Given the description of an element on the screen output the (x, y) to click on. 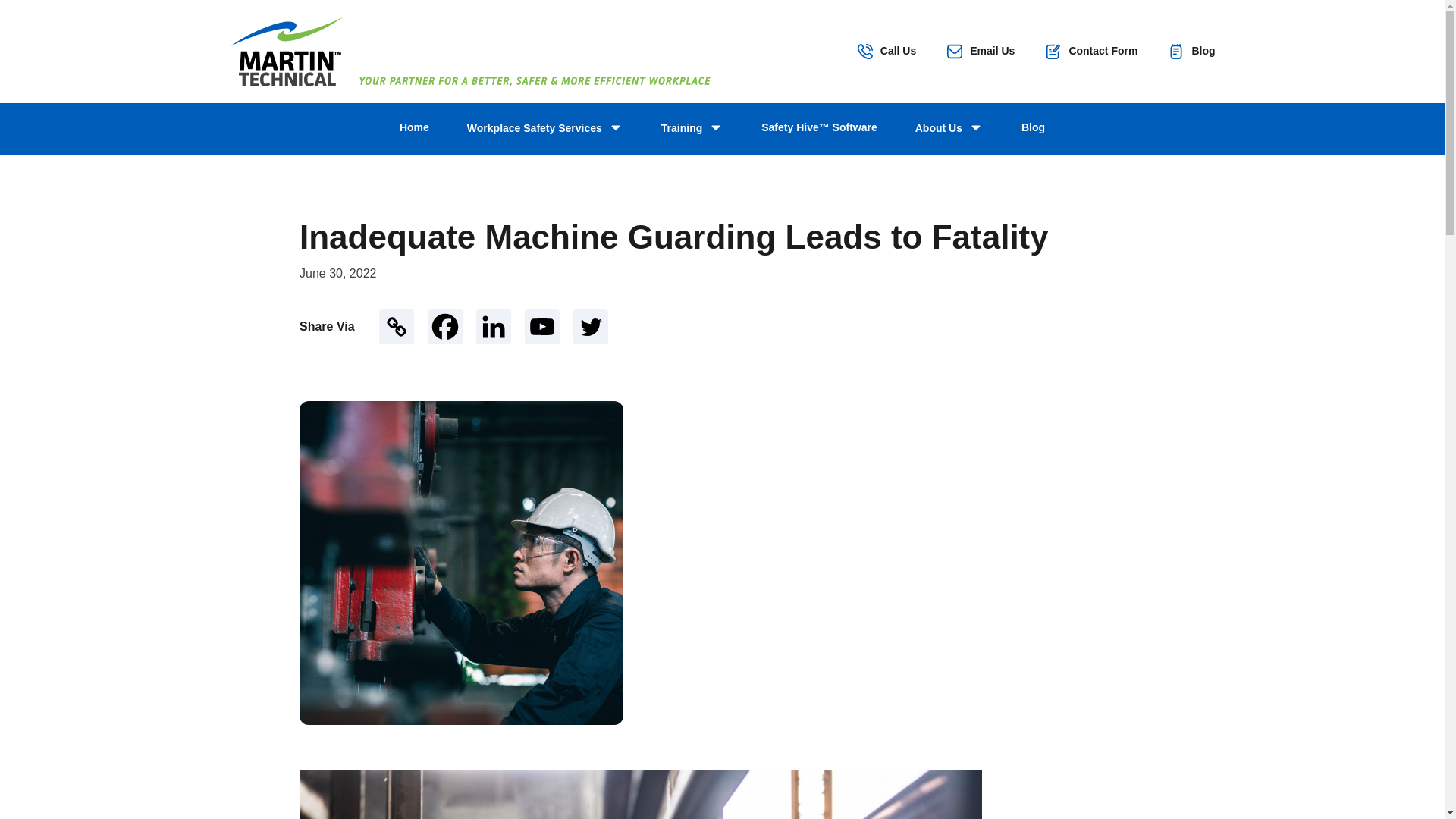
Call Us (886, 51)
Contact Form (1091, 51)
Workplace Safety Services (545, 128)
Facebook (445, 326)
Home (413, 127)
Training (692, 128)
Blog (1033, 127)
Blog (1191, 51)
Linkedin (493, 326)
Copy Link (395, 326)
Youtube (541, 326)
Email Us (980, 51)
About Us (949, 128)
Martin Technical (285, 51)
Twitter (590, 326)
